Given the description of an element on the screen output the (x, y) to click on. 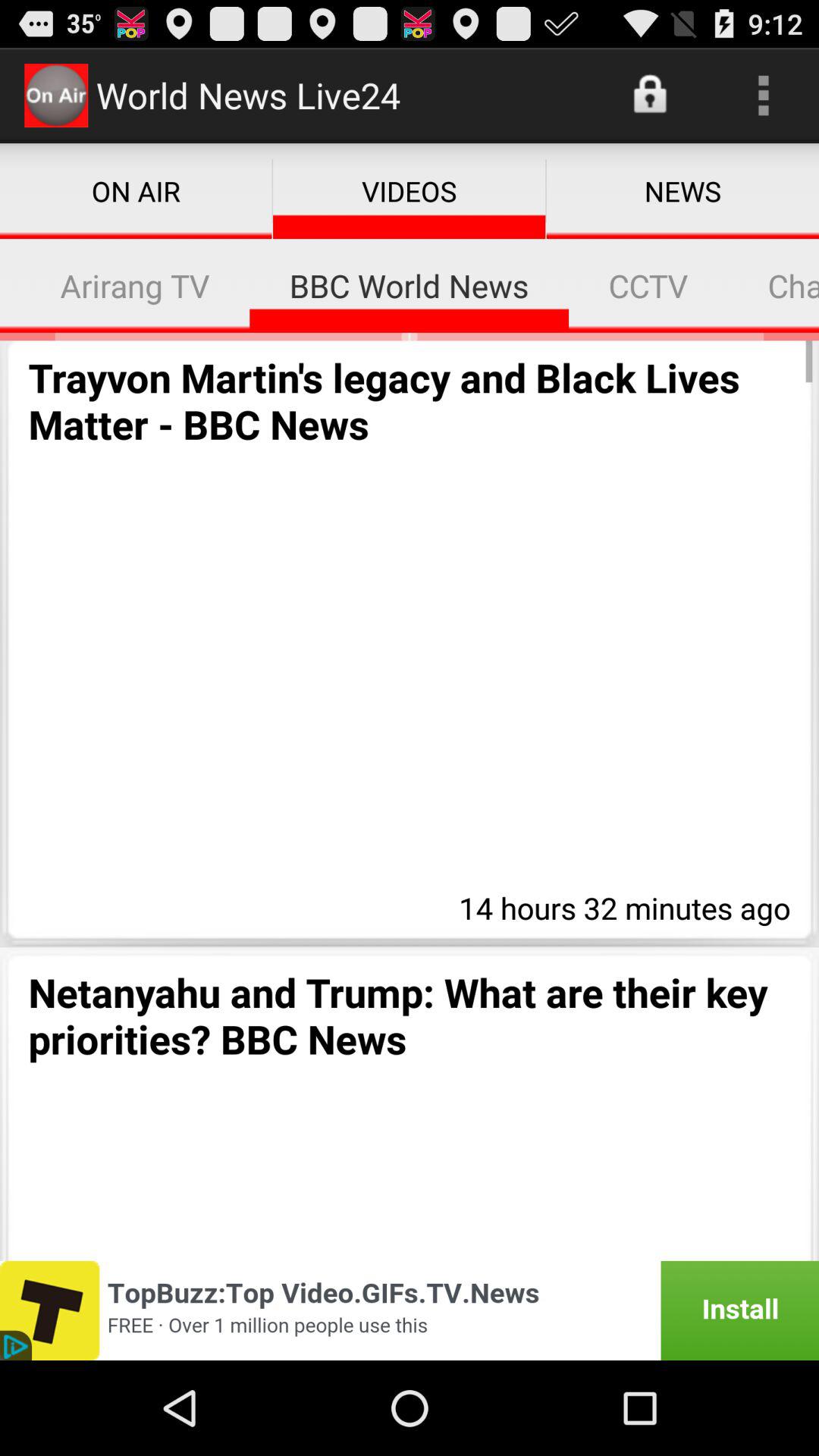
press app above news item (763, 95)
